Given the description of an element on the screen output the (x, y) to click on. 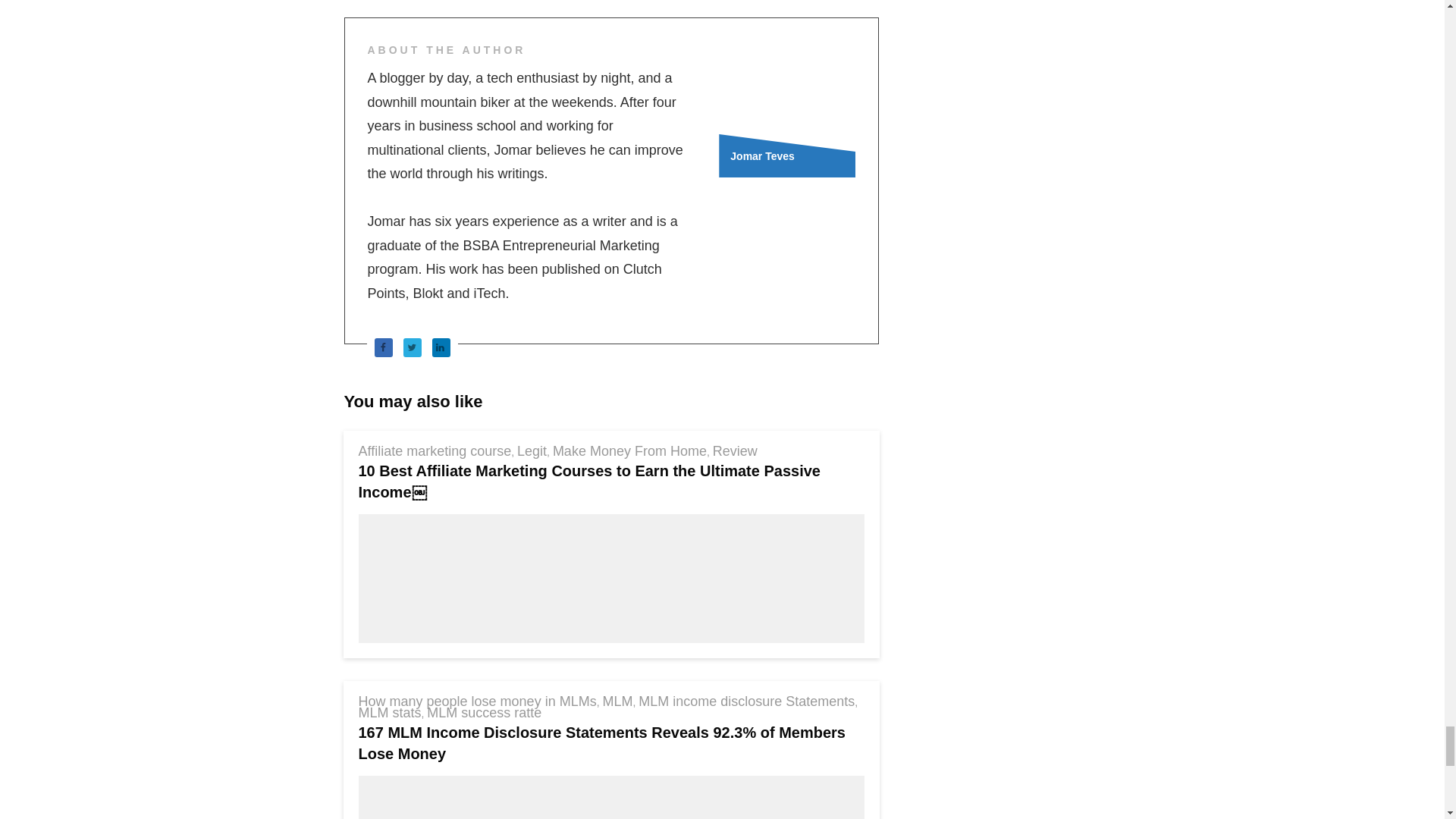
Affiliate marketing course (434, 450)
Make Money From Home (629, 450)
Legit (531, 450)
